Given the description of an element on the screen output the (x, y) to click on. 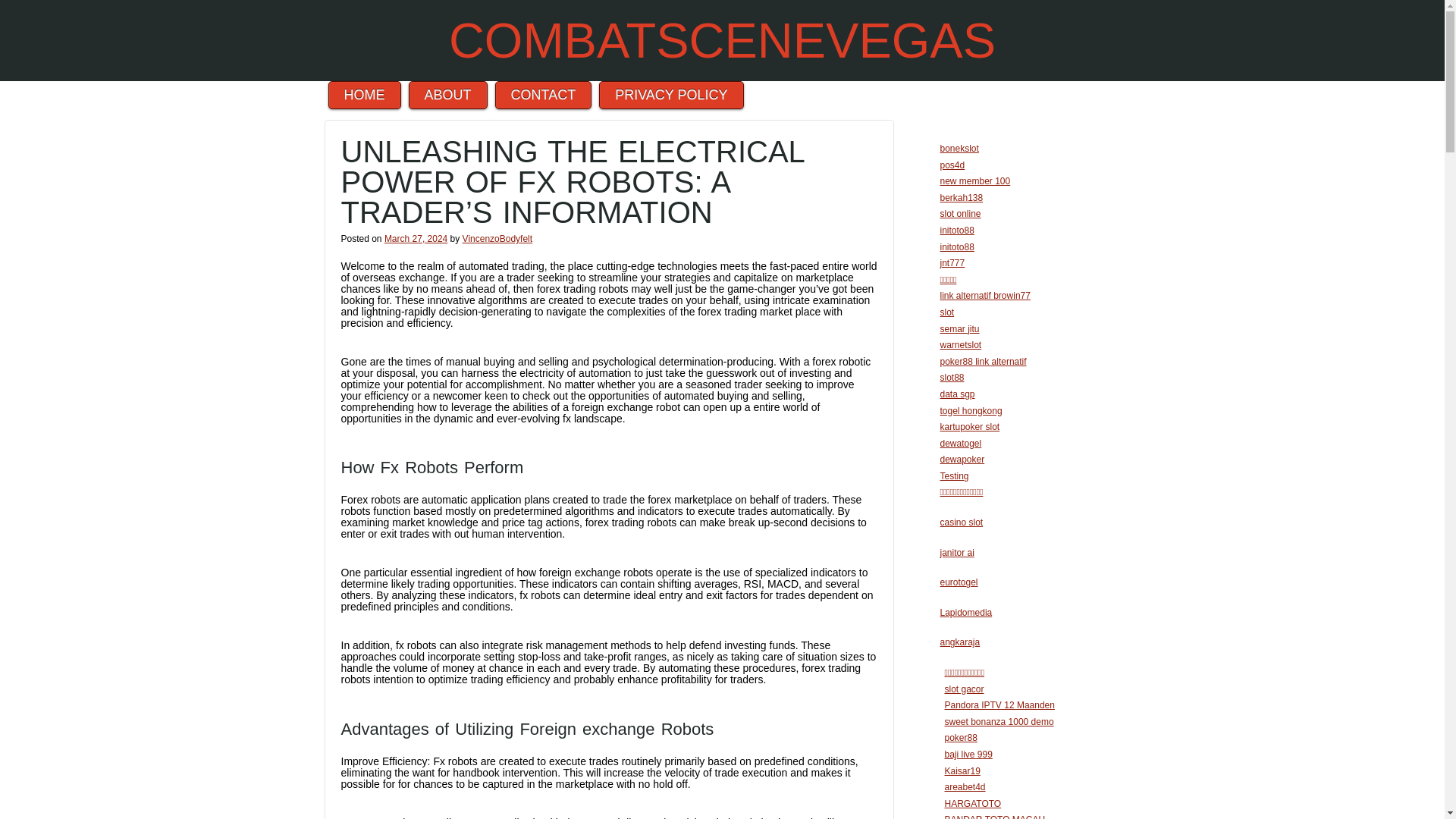
initoto88 (957, 246)
ABOUT (448, 94)
warnetslot (960, 344)
semar jitu (959, 328)
HOME (364, 94)
pos4d (952, 164)
View all posts by VincenzoBodyfelt (497, 238)
kartupoker slot (970, 426)
VincenzoBodyfelt (497, 238)
data sgp (957, 394)
poker88 link alternatif (983, 361)
dewapoker (962, 459)
togel hongkong (971, 409)
bonekslot (959, 148)
COMBATSCENEVEGAS (721, 40)
